Given the description of an element on the screen output the (x, y) to click on. 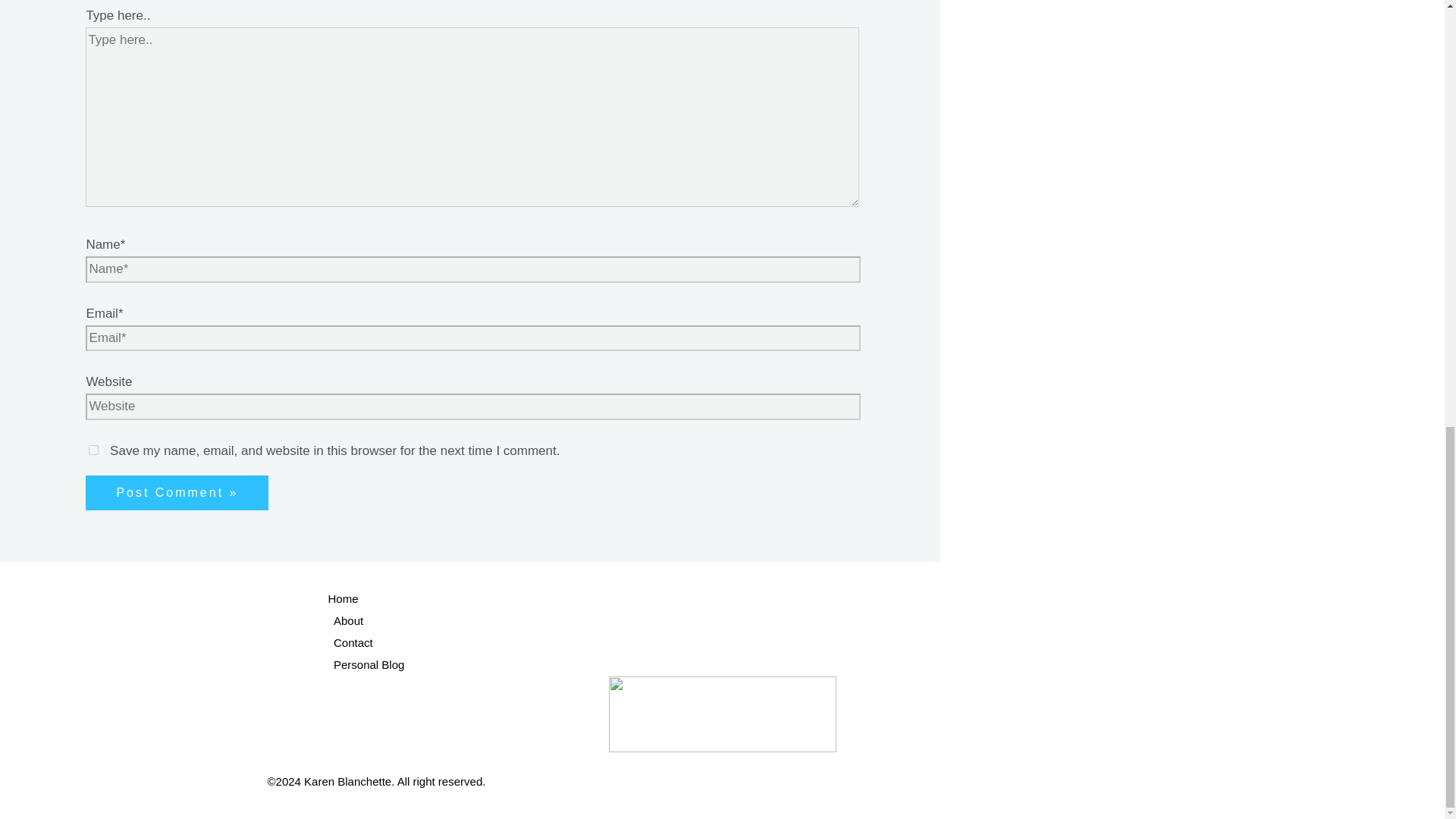
yes (93, 450)
Home (751, 599)
About (751, 621)
Personal Blog (751, 665)
Contact (751, 643)
